Given the description of an element on the screen output the (x, y) to click on. 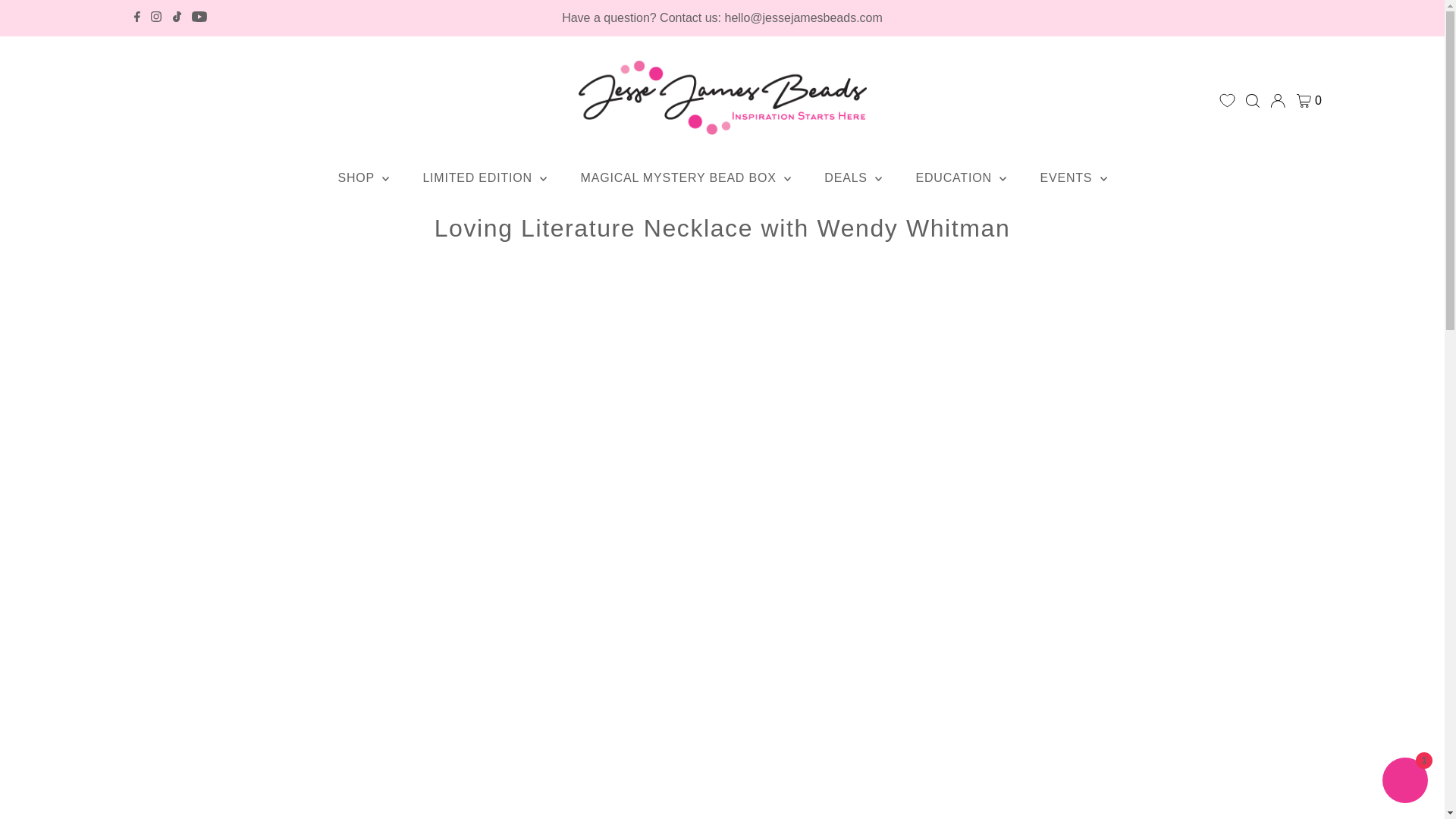
Skip to content (55, 18)
0 (1309, 100)
